Given the description of an element on the screen output the (x, y) to click on. 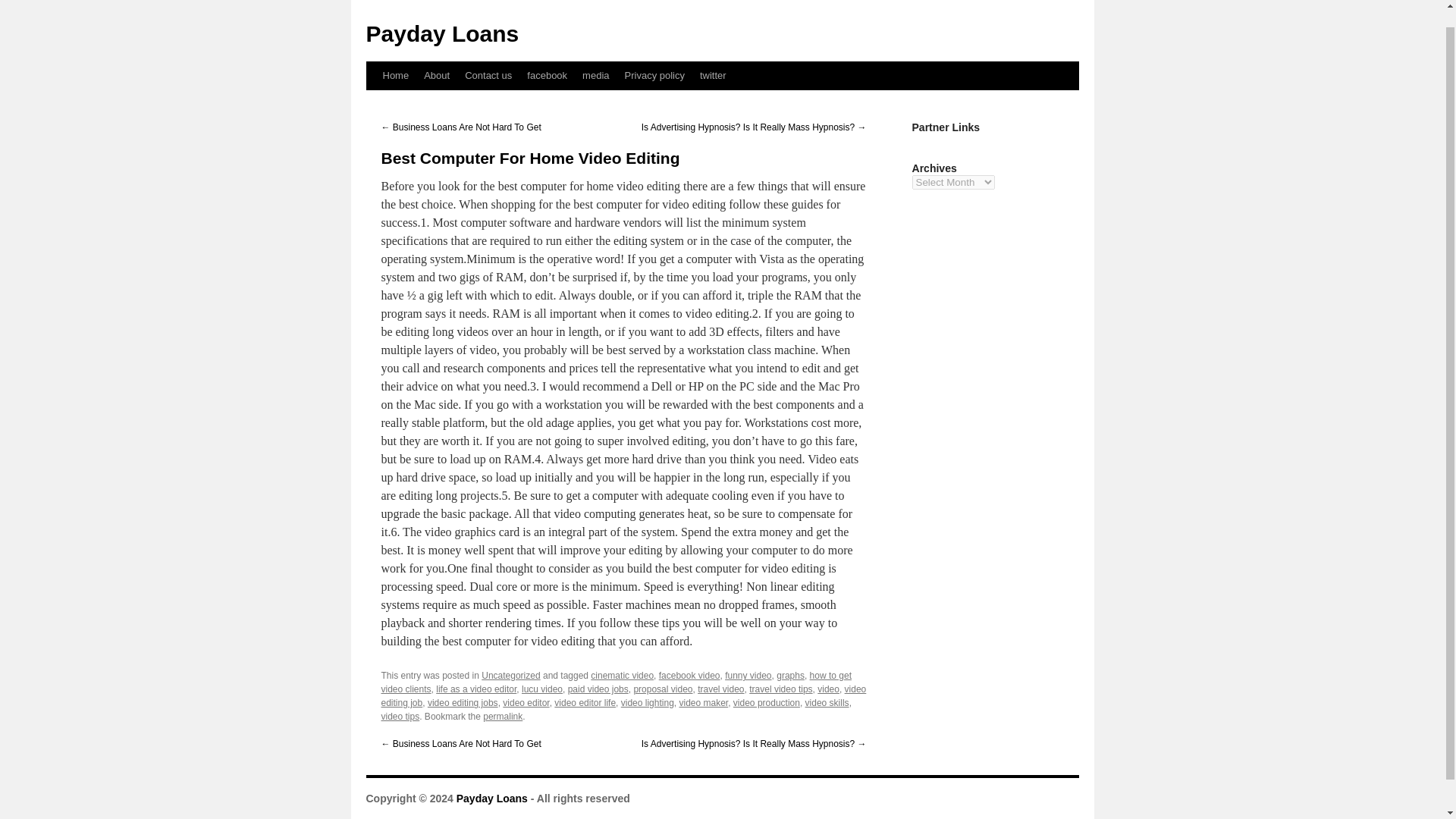
video (828, 688)
media (595, 75)
life as a video editor (475, 688)
video editor (525, 702)
video lighting (647, 702)
Home (395, 75)
Privacy policy (655, 75)
travel video (720, 688)
video production (766, 702)
Uncategorized (510, 675)
